Given the description of an element on the screen output the (x, y) to click on. 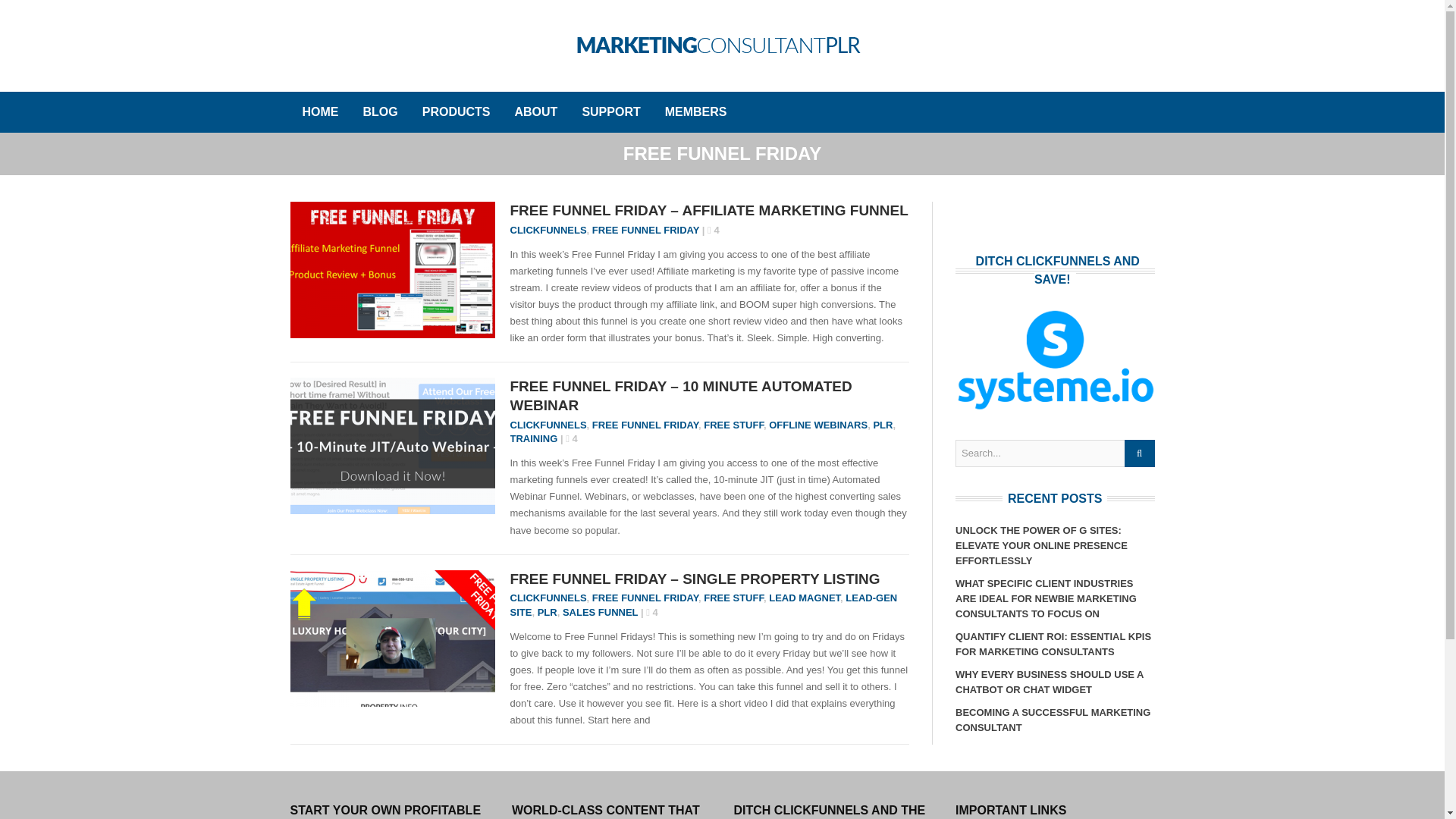
LEAD-GEN SITE (702, 604)
PLR (547, 612)
4 (652, 612)
CLICKFUNNELS (547, 424)
FREE FUNNEL FRIDAY (645, 229)
4 (572, 438)
MEMBERS (695, 112)
HOME (319, 112)
CLICKFUNNELS (547, 597)
